Given the description of an element on the screen output the (x, y) to click on. 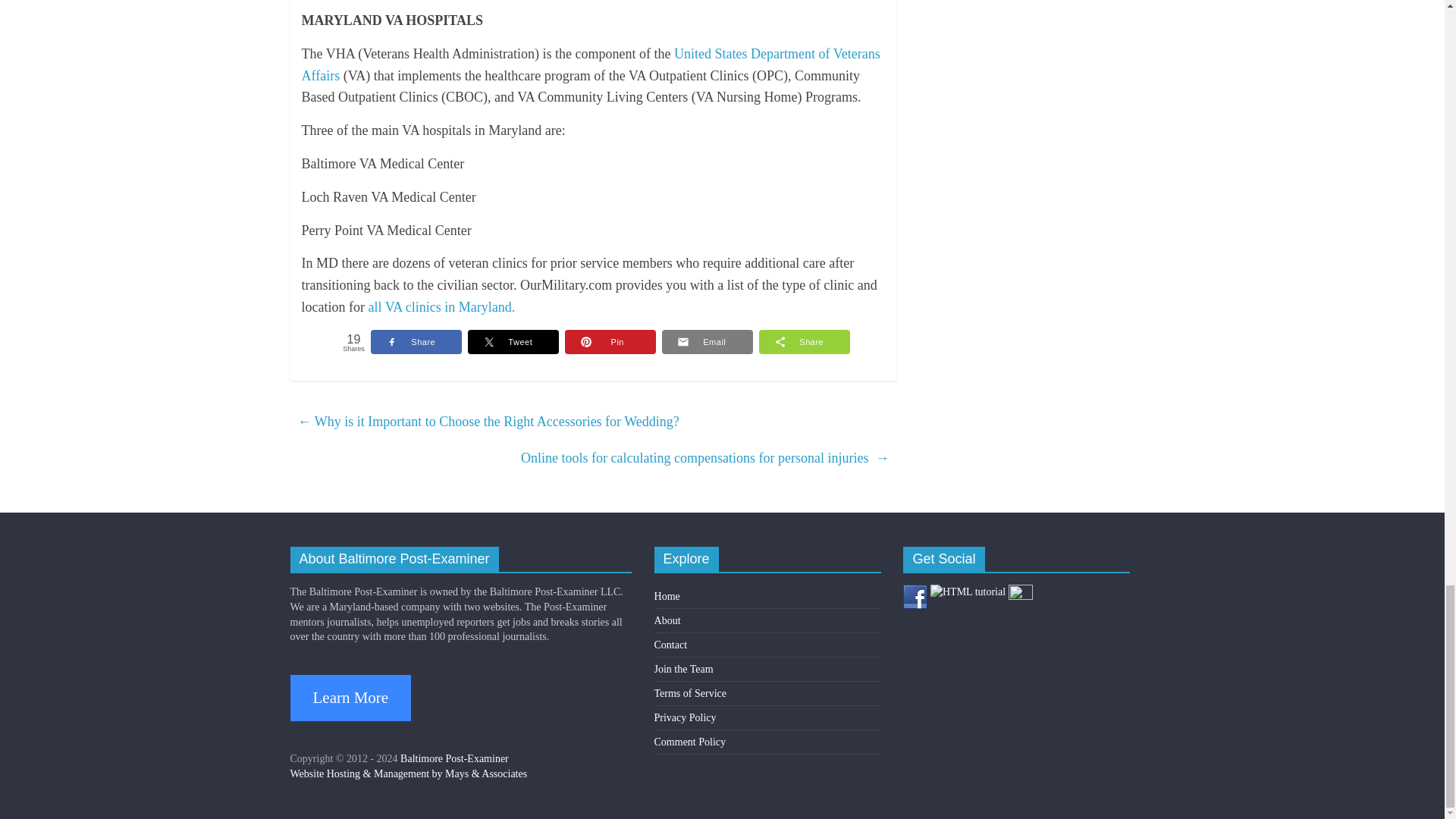
all VA clinics in Maryland. (441, 306)
Baltimore Post-Examiner (454, 758)
United States Department of Veterans Affairs (590, 64)
